Given the description of an element on the screen output the (x, y) to click on. 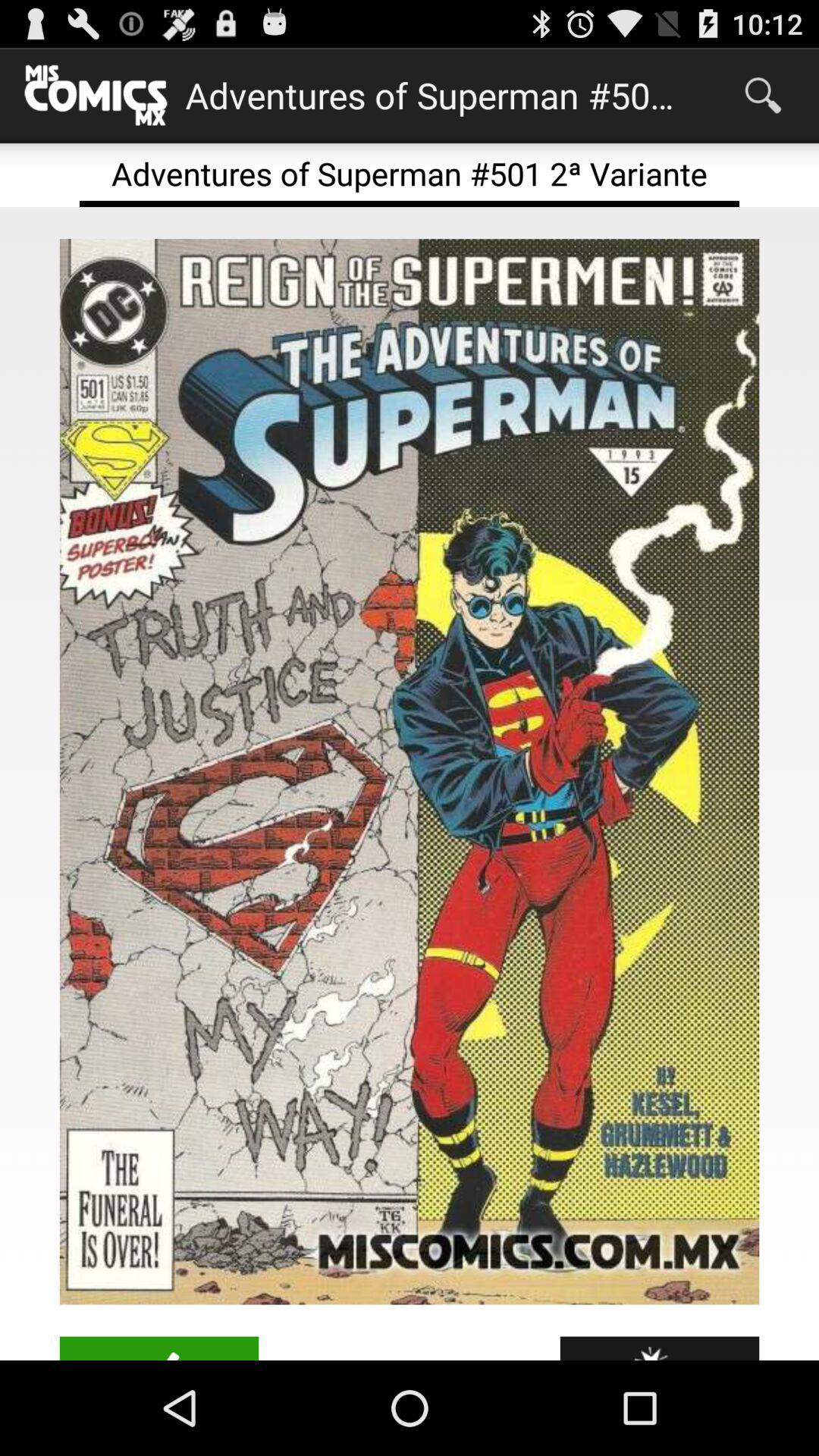
go into comic (409, 771)
